Given the description of an element on the screen output the (x, y) to click on. 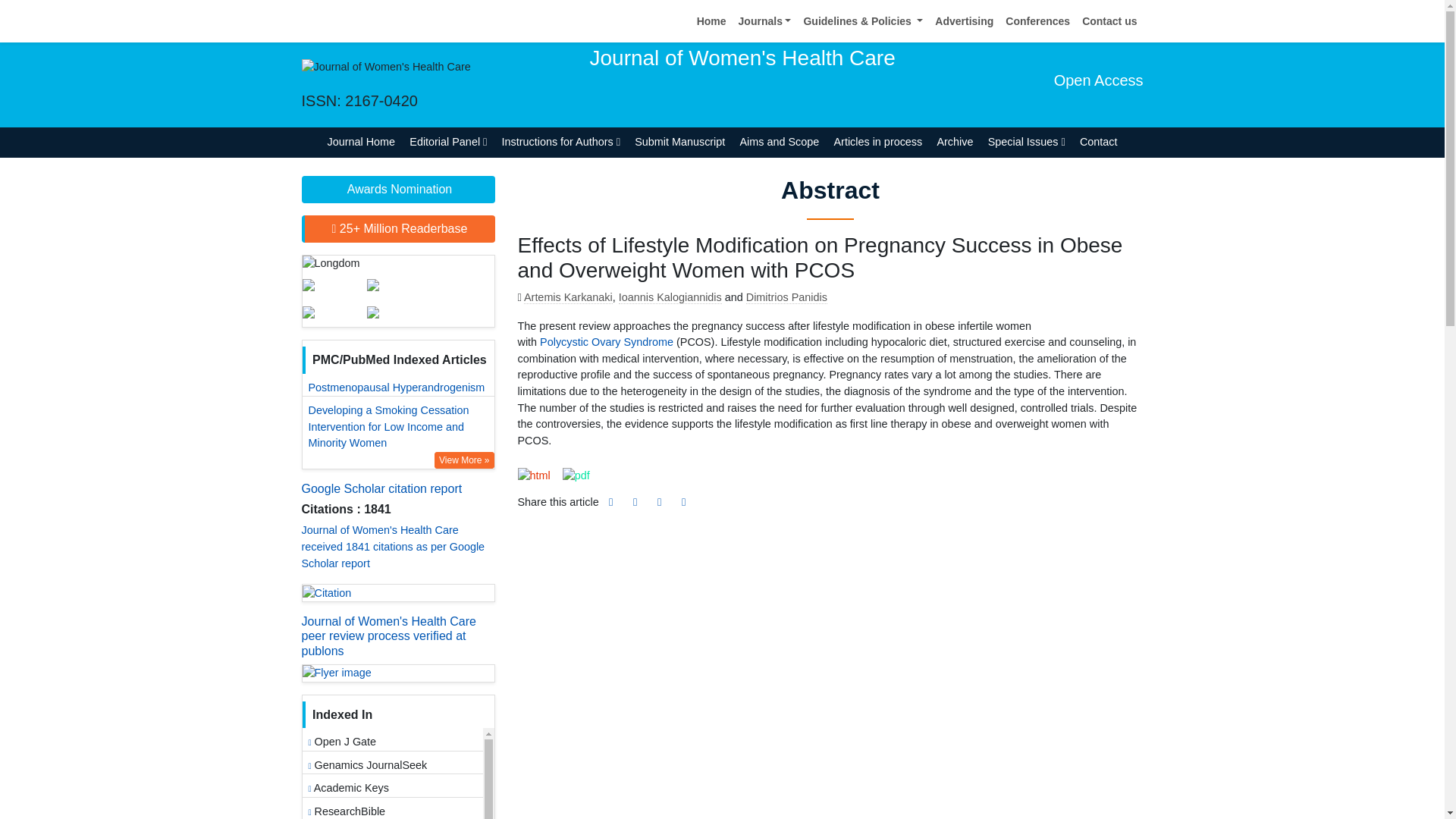
Aims and Scope (779, 142)
Submit Manuscript (679, 142)
Journals (764, 21)
Editorial Panel (449, 142)
Postmenopausal Hyperandrogenism (398, 387)
Advertising (963, 21)
Journal Home (361, 142)
Instructions for Authors (561, 142)
Special Issues (1025, 142)
Articles in process (878, 142)
